Given the description of an element on the screen output the (x, y) to click on. 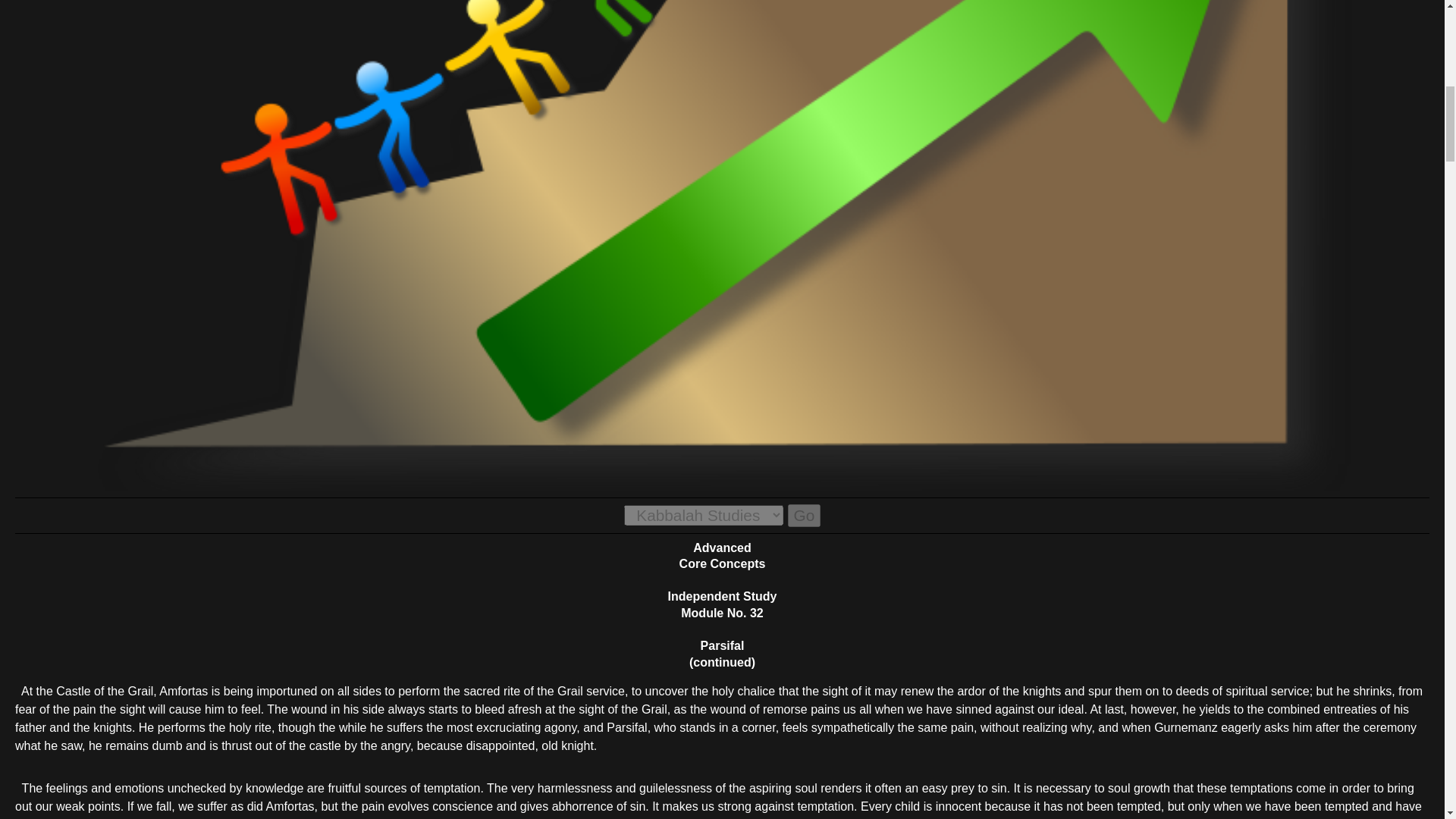
Go (804, 515)
